Given the description of an element on the screen output the (x, y) to click on. 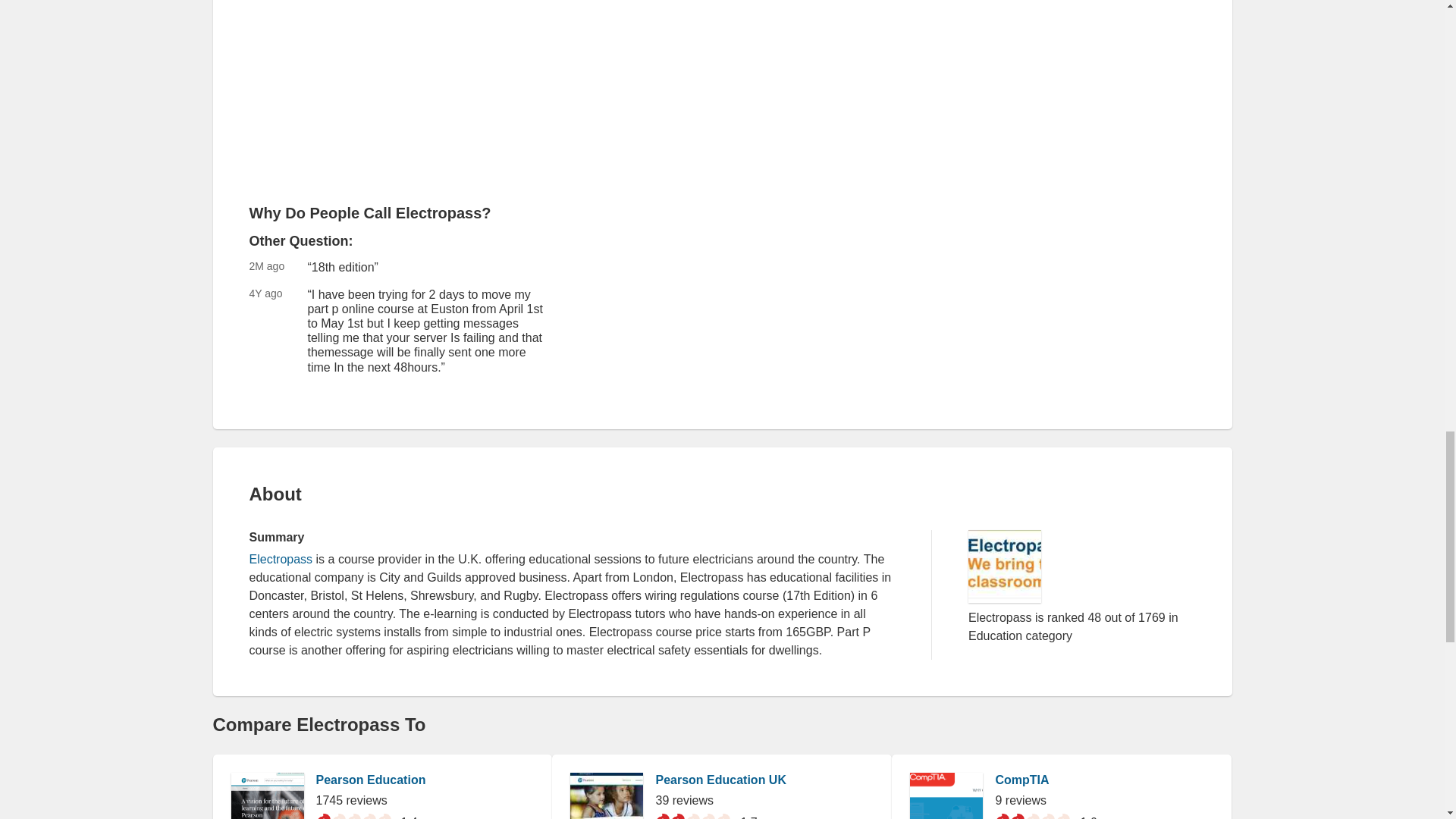
Electropass (280, 558)
Pearson Education (370, 779)
CompTIA (1021, 779)
Chart Top Reasons of Customers Calls (332, 63)
Pearson Education UK (720, 779)
